Given the description of an element on the screen output the (x, y) to click on. 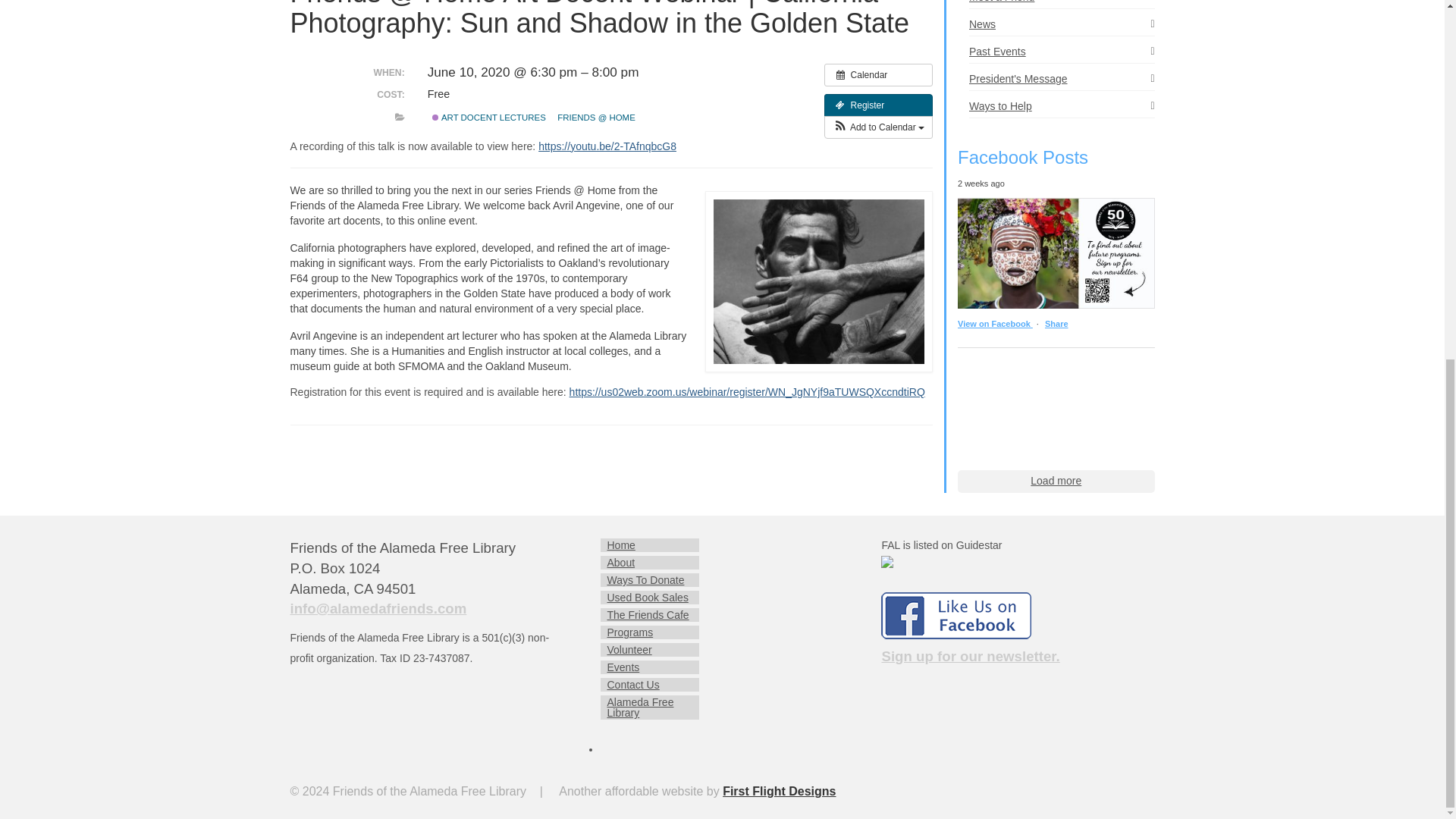
Categories (399, 117)
Likebox Content (1056, 406)
Art Docent Lectures (435, 117)
